Given the description of an element on the screen output the (x, y) to click on. 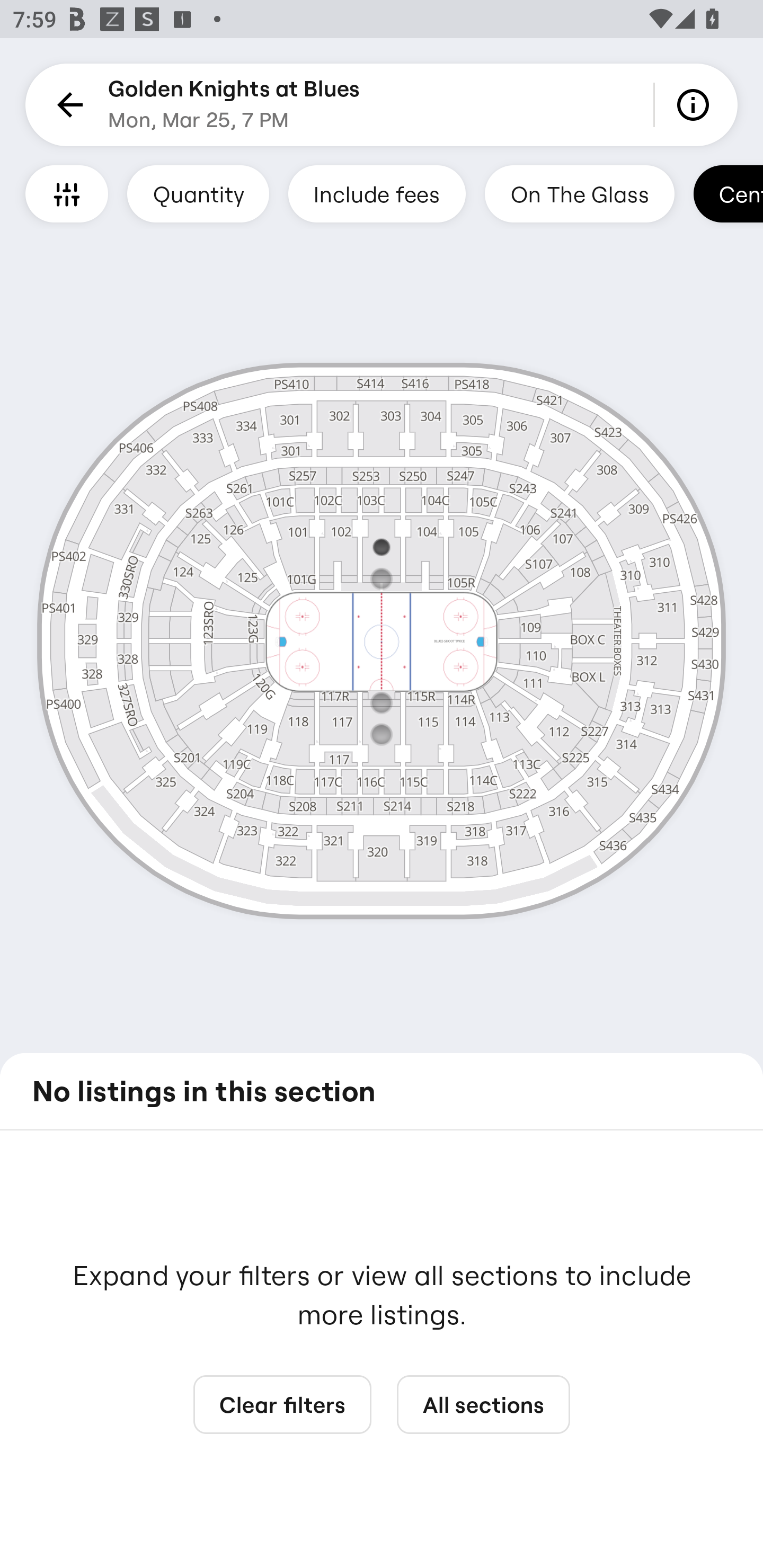
Back (66, 104)
Golden Knights at Blues Mon, Mar 25, 7 PM (234, 104)
Info (695, 104)
Filters and Accessible Seating (66, 193)
Quantity (198, 193)
Include fees (376, 193)
On The Glass (579, 193)
Clear filters (282, 1404)
All sections (482, 1404)
